Given the description of an element on the screen output the (x, y) to click on. 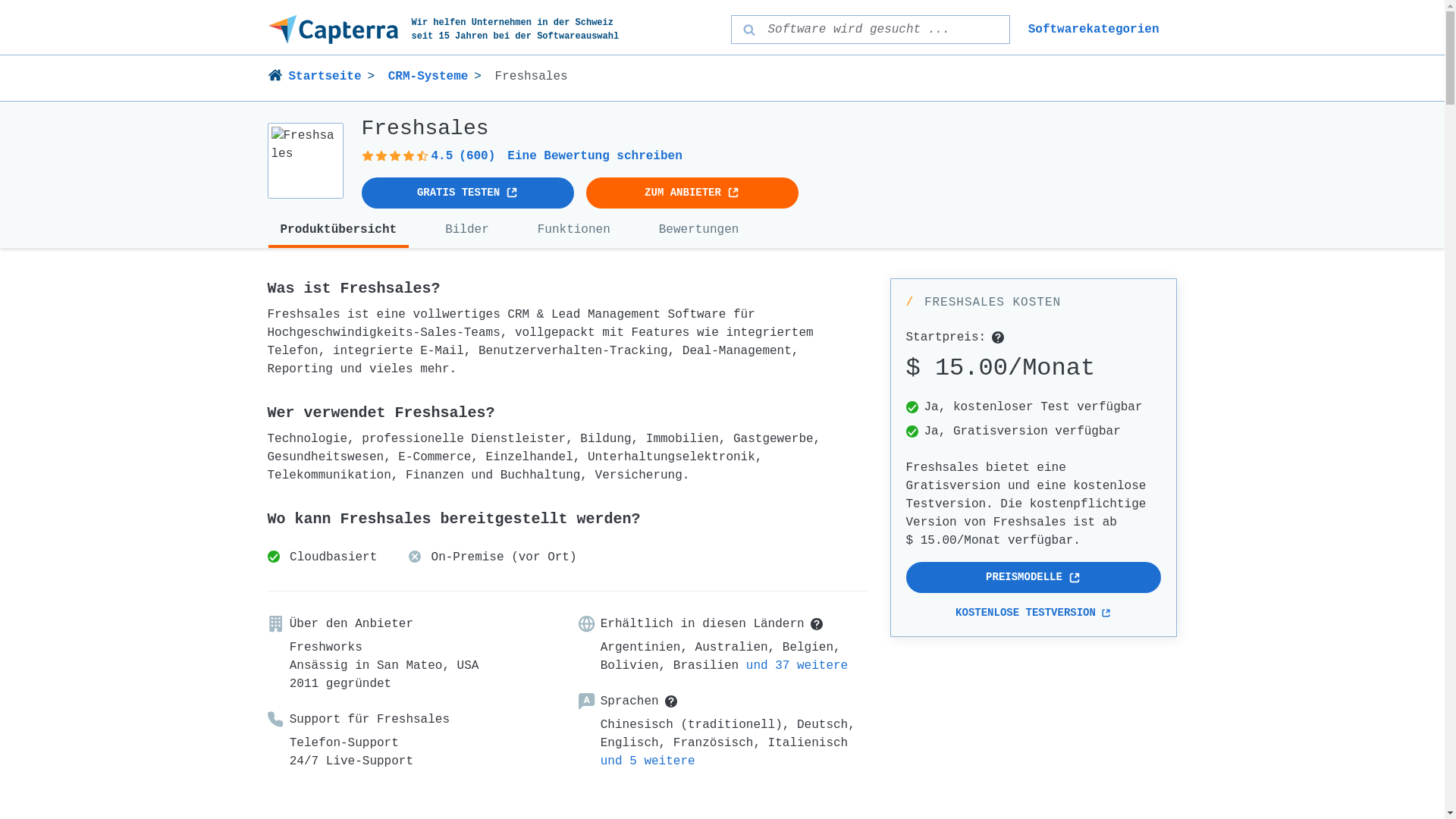
GRATIS TESTEN Element type: text (466, 192)
und 5 weitere Element type: text (647, 761)
KOSTENLOSE TESTVERSION Element type: text (1032, 613)
CRM-Systeme Element type: text (428, 76)
PREISMODELLE Element type: text (1032, 577)
und 37 weitere Element type: text (796, 665)
Eine Bewertung schreiben Element type: text (594, 156)
Bilder Element type: text (467, 230)
ZUM ANBIETER Element type: text (691, 192)
Bewertungen Element type: text (698, 230)
Funktionen Element type: text (573, 230)
4.5
(600) Element type: text (427, 156)
Startseite Element type: text (319, 76)
Softwarekategorien Element type: text (1093, 29)
